Given the description of an element on the screen output the (x, y) to click on. 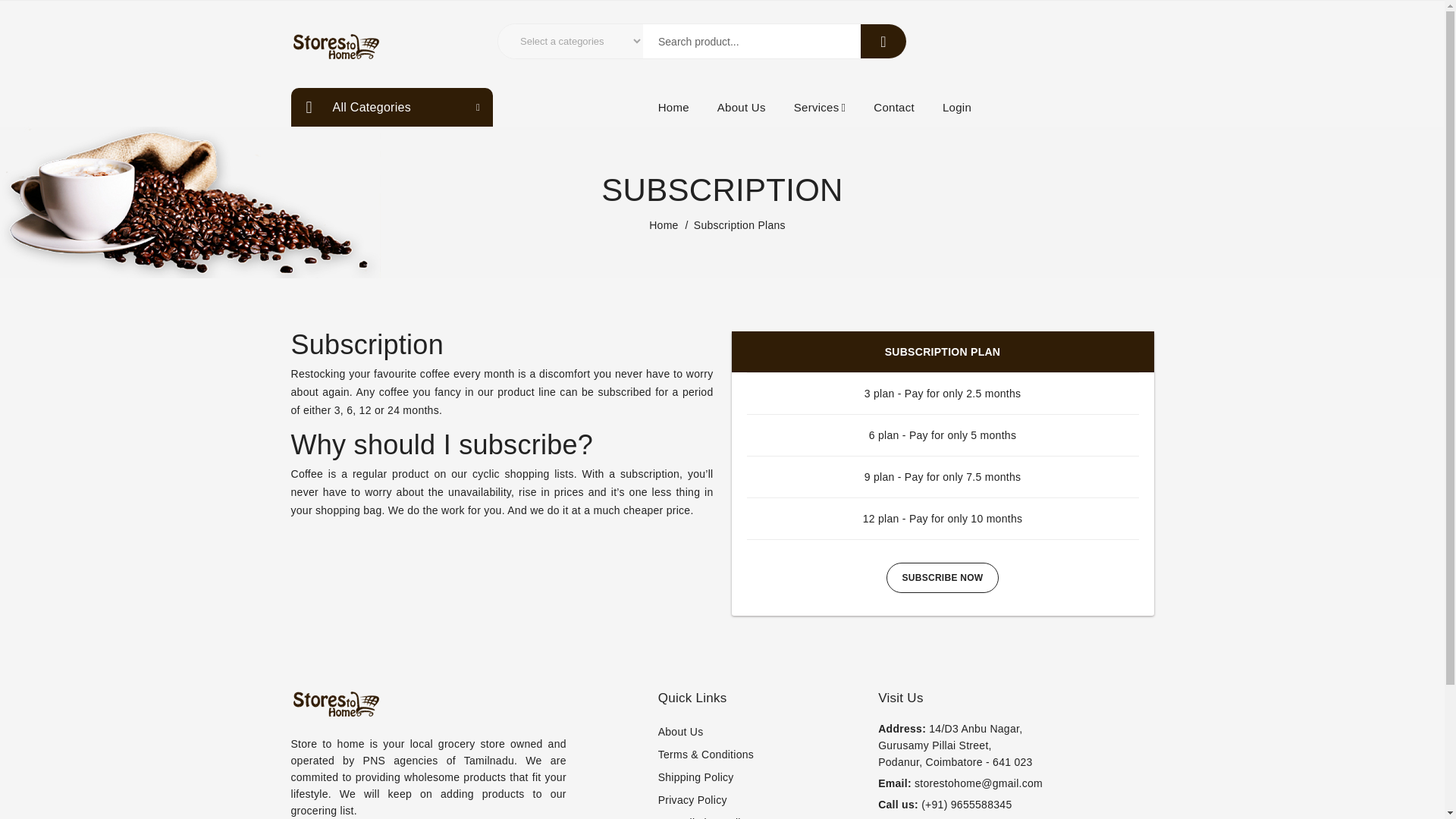
Services (819, 106)
Home (663, 224)
Contact (893, 106)
About Us (741, 106)
